Given the description of an element on the screen output the (x, y) to click on. 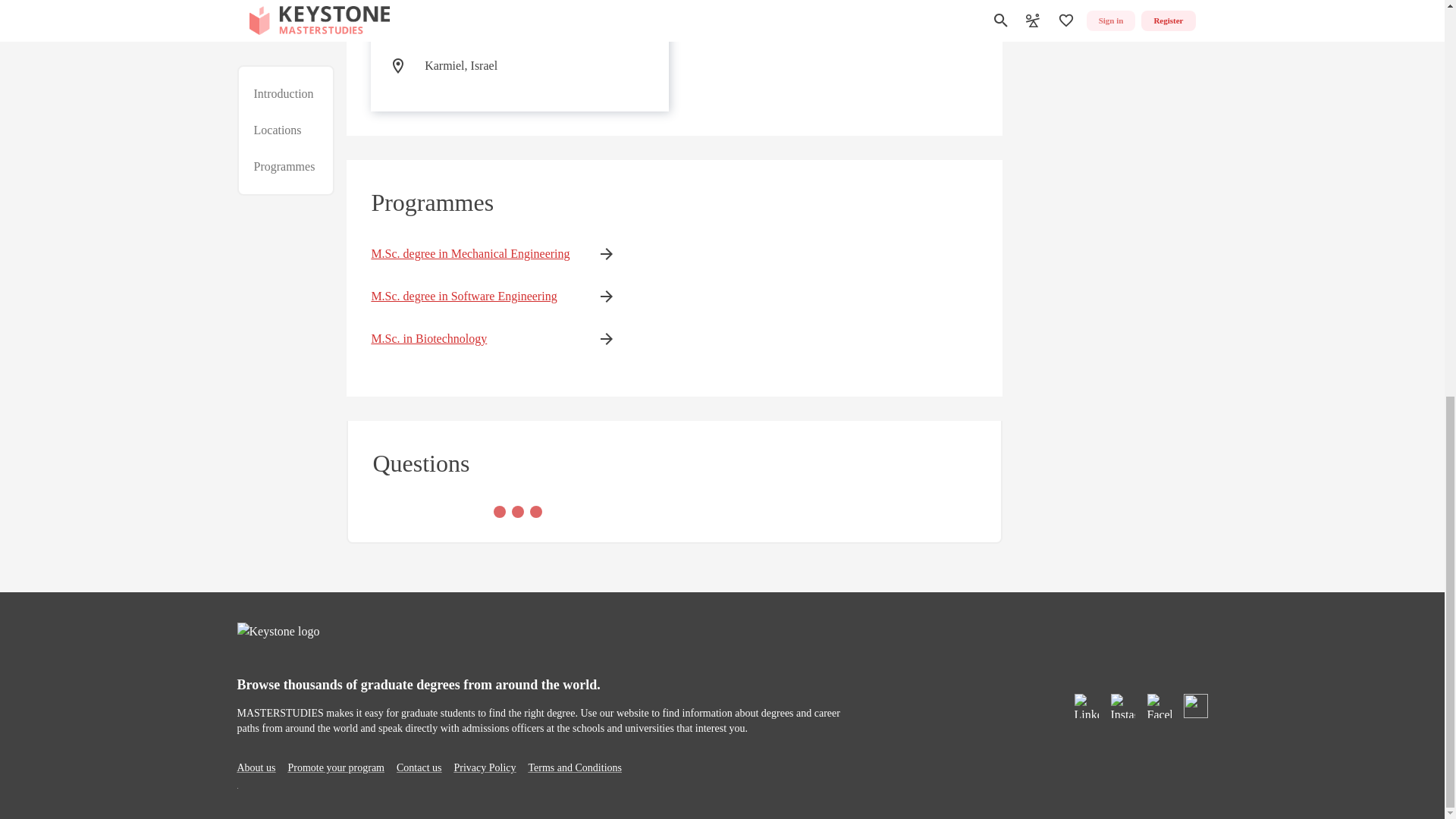
Promote your program (335, 767)
Privacy Policy (483, 767)
About us (255, 767)
M.Sc. degree in Software Engineering (470, 296)
Contact us (419, 767)
Terms and Conditions (574, 767)
M.Sc. in Biotechnology (470, 339)
M.Sc. degree in Mechanical Engineering (470, 253)
